Given the description of an element on the screen output the (x, y) to click on. 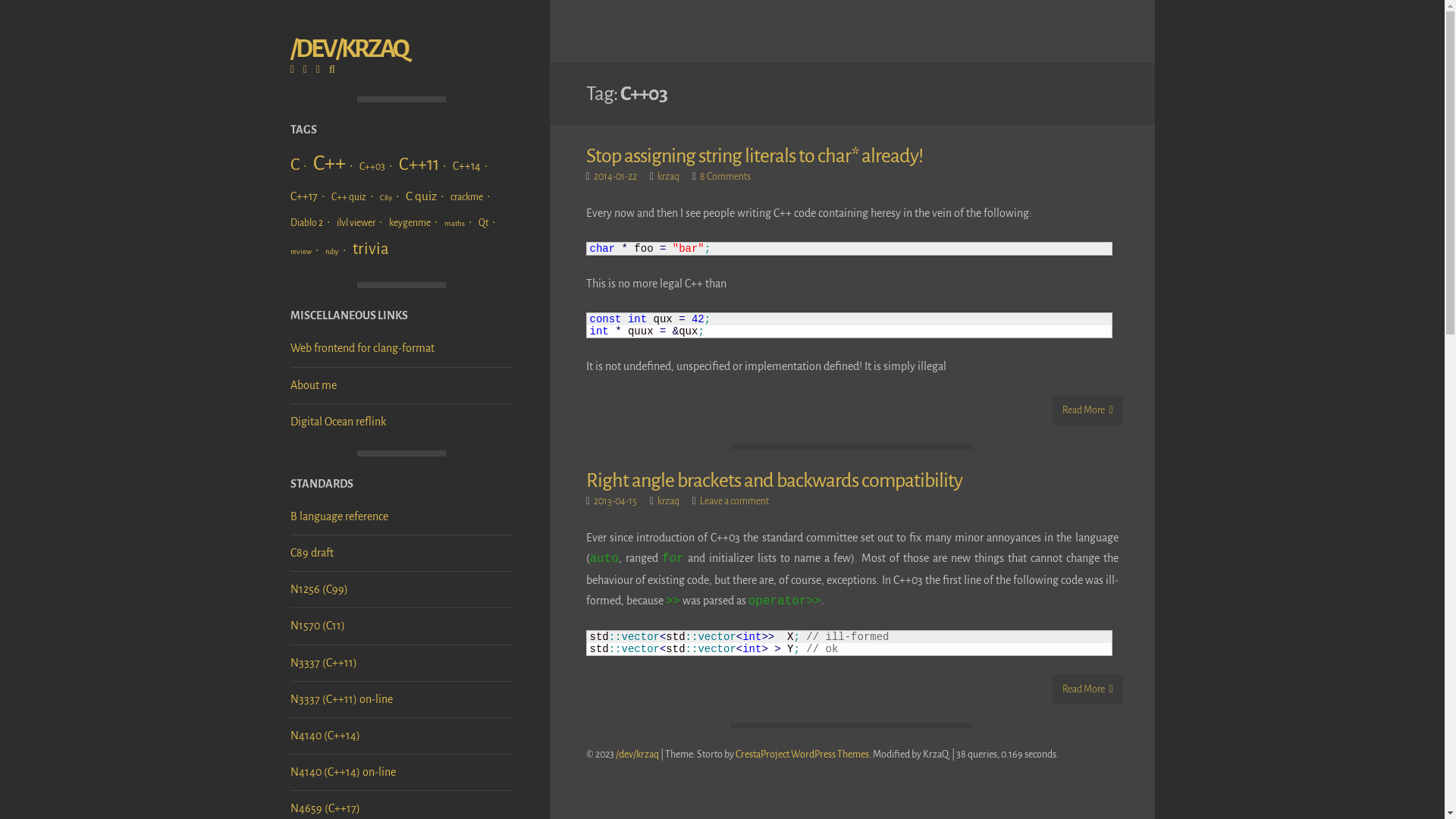
ruby Element type: text (336, 251)
N4140 (C++14) Element type: text (324, 735)
Twitter Element type: text (321, 69)
Leave a comment Element type: text (733, 500)
RSS Element type: text (295, 69)
C++ Element type: text (334, 163)
B language reference Element type: text (338, 516)
N3337 (C++11) on-line Element type: text (340, 699)
Right angle brackets and backwards compatibility Element type: text (773, 480)
Diablo 2 Element type: text (311, 222)
trivia Element type: text (373, 248)
C++11 Element type: text (424, 163)
N4659 (C++17) Element type: text (324, 808)
/dev/krzaq Element type: text (636, 754)
keygenme Element type: text (414, 222)
C++03 Element type: text (377, 166)
2013-04-15 Element type: text (615, 500)
ilvl viewer Element type: text (361, 222)
Digital Ocean reflink Element type: text (337, 421)
review Element type: text (305, 251)
CrestaProject WordPress Themes Element type: text (802, 754)
N1256 (C99) Element type: text (318, 589)
crackme Element type: text (472, 196)
C Element type: text (299, 164)
N4140 (C++14) on-line Element type: text (342, 771)
C89 Element type: text (390, 197)
maths Element type: text (460, 223)
8 Comments Element type: text (724, 176)
Read More Element type: text (1087, 689)
N3337 (C++11) Element type: text (322, 662)
C quiz Element type: text (425, 195)
2014-01-22 Element type: text (615, 176)
Stop assigning string literals to char* already! Element type: text (753, 155)
Facebook Element type: text (308, 69)
C++14 Element type: text (471, 166)
C++17 Element type: text (308, 196)
About me Element type: text (312, 385)
Web frontend for clang-format Element type: text (361, 348)
krzaq Element type: text (668, 176)
Qt Element type: text (487, 222)
/DEV/KRZAQ Element type: text (348, 48)
C++ quiz Element type: text (353, 196)
Read More Element type: text (1087, 410)
krzaq Element type: text (668, 500)
N1570 (C11) Element type: text (316, 625)
C89 draft Element type: text (310, 552)
